Given the description of an element on the screen output the (x, y) to click on. 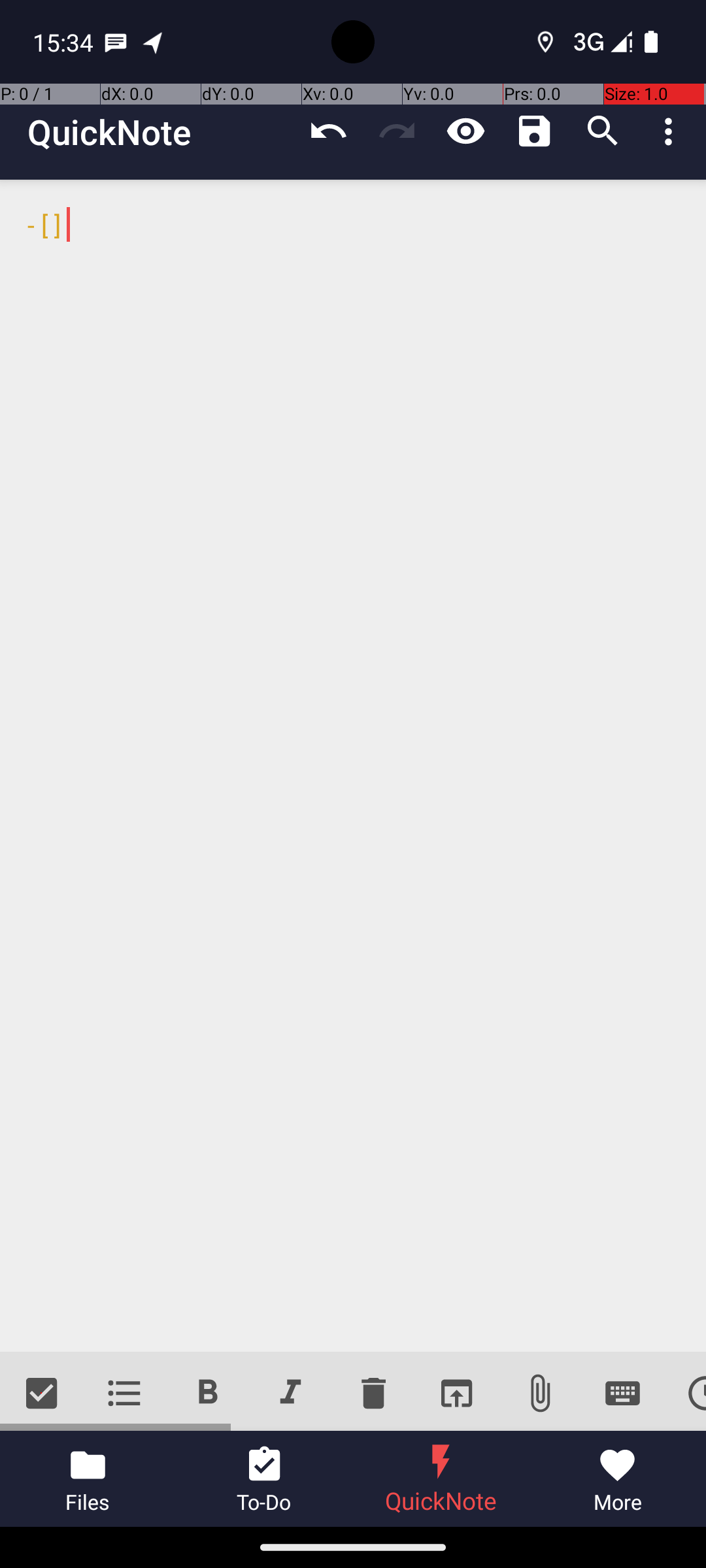
- [ ]  Element type: android.widget.EditText (353, 765)
